Given the description of an element on the screen output the (x, y) to click on. 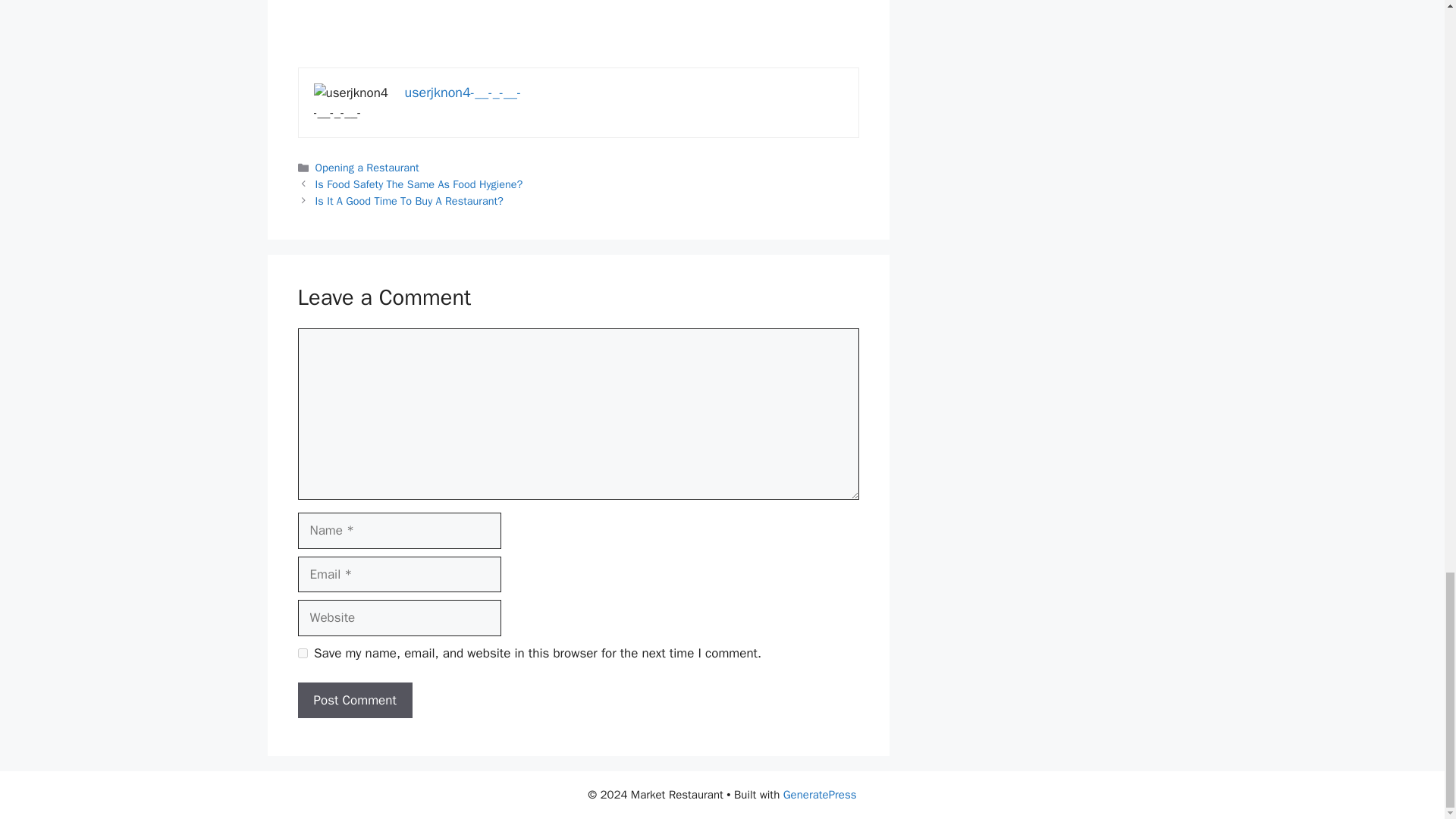
GeneratePress (820, 794)
Post Comment (354, 700)
Is It A Good Time To Buy A Restaurant? (409, 201)
Opening a Restaurant (367, 167)
yes (302, 653)
Post Comment (354, 700)
Is Food Safety The Same As Food Hygiene? (418, 183)
